Given the description of an element on the screen output the (x, y) to click on. 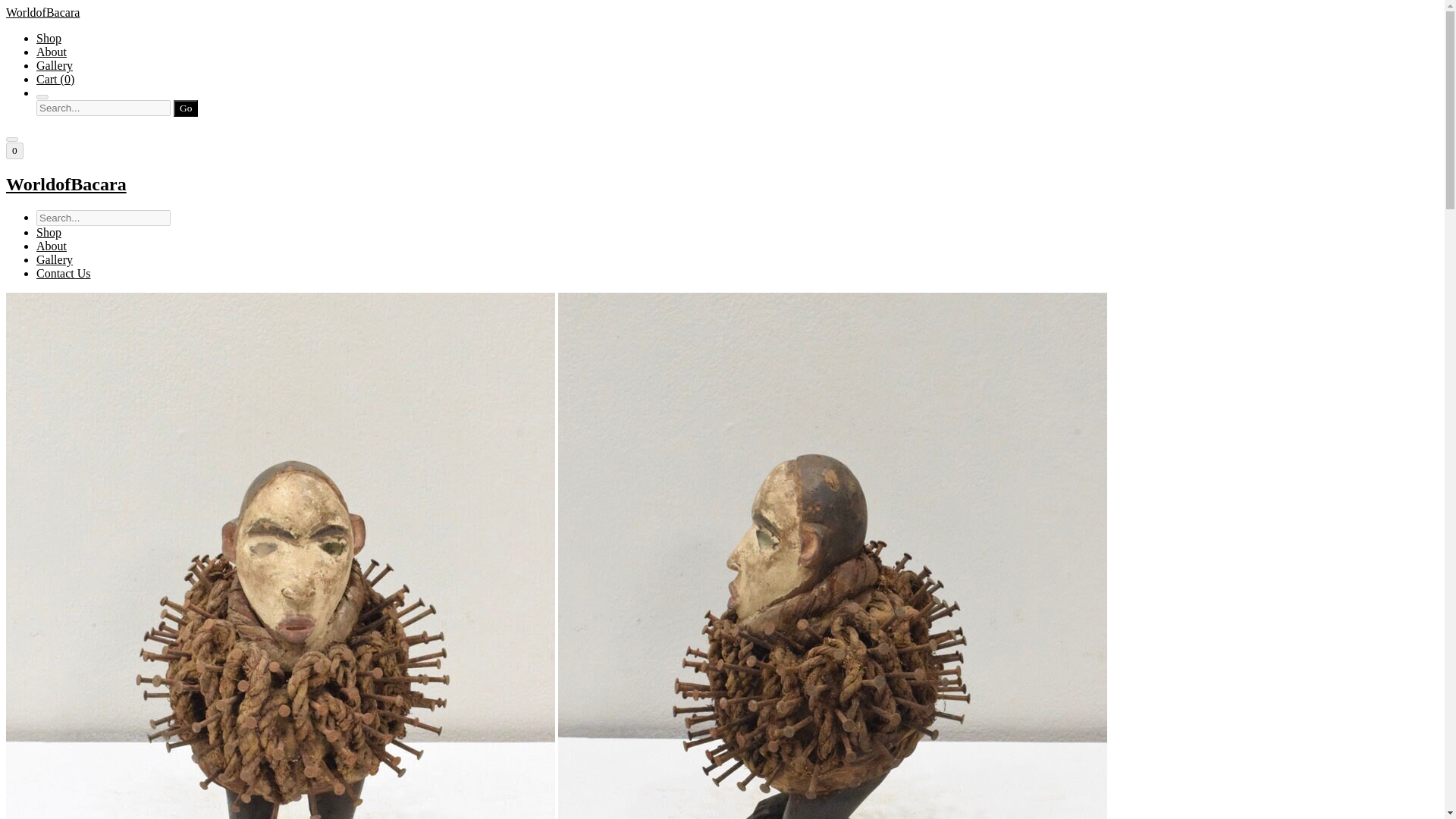
About (51, 245)
Go (185, 108)
Gallery (54, 259)
Contact Us (63, 273)
Shop (48, 38)
Gallery (54, 65)
Shop (48, 232)
About (51, 51)
0 (14, 150)
Go (185, 108)
